Given the description of an element on the screen output the (x, y) to click on. 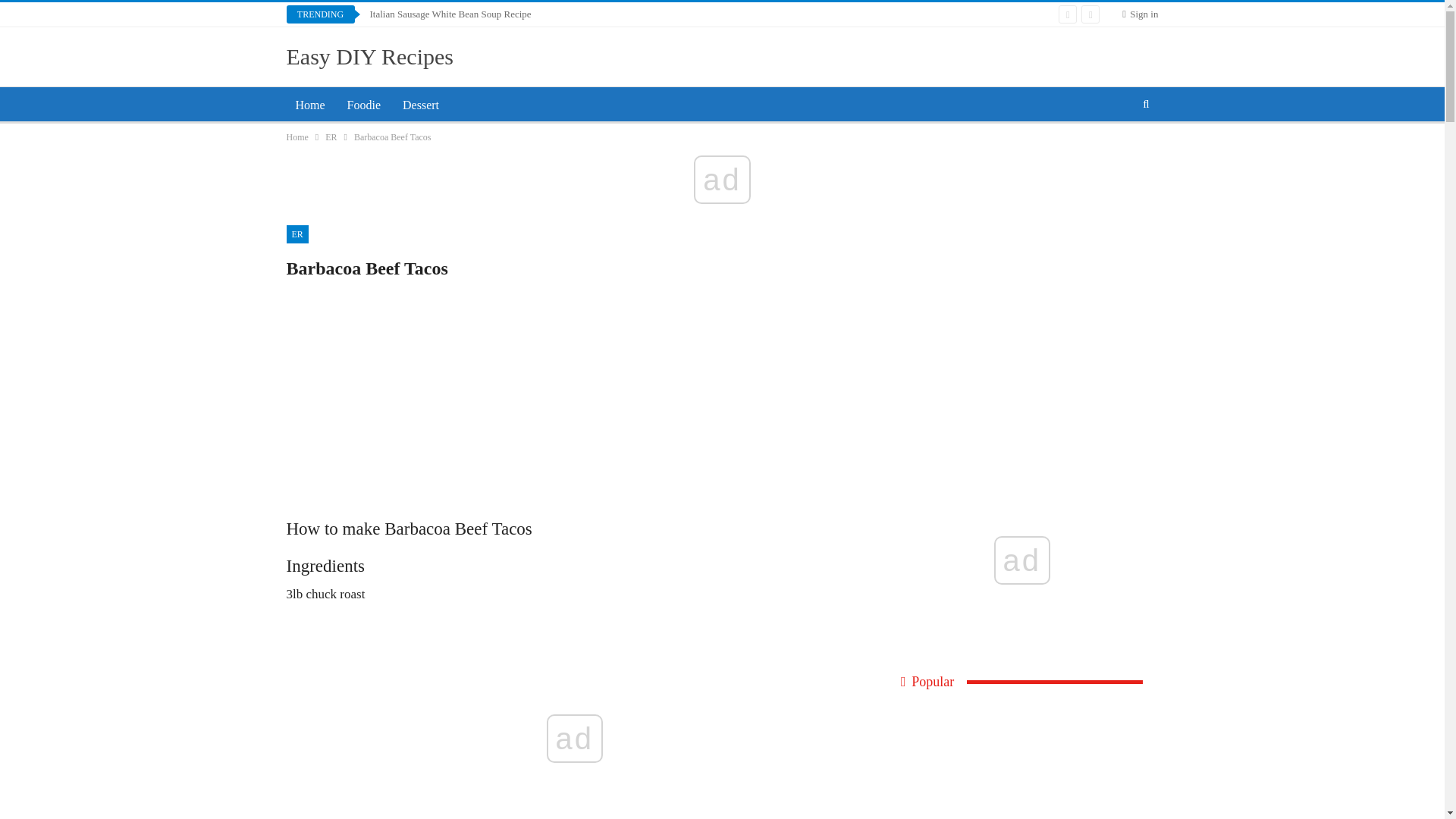
ER (297, 234)
Foodie (363, 104)
Home (310, 104)
Easy DIY Recipes (370, 56)
Home (297, 136)
Italian Sausage White Bean Soup Recipe (450, 13)
Sign in (1139, 13)
Dessert (420, 104)
